Given the description of an element on the screen output the (x, y) to click on. 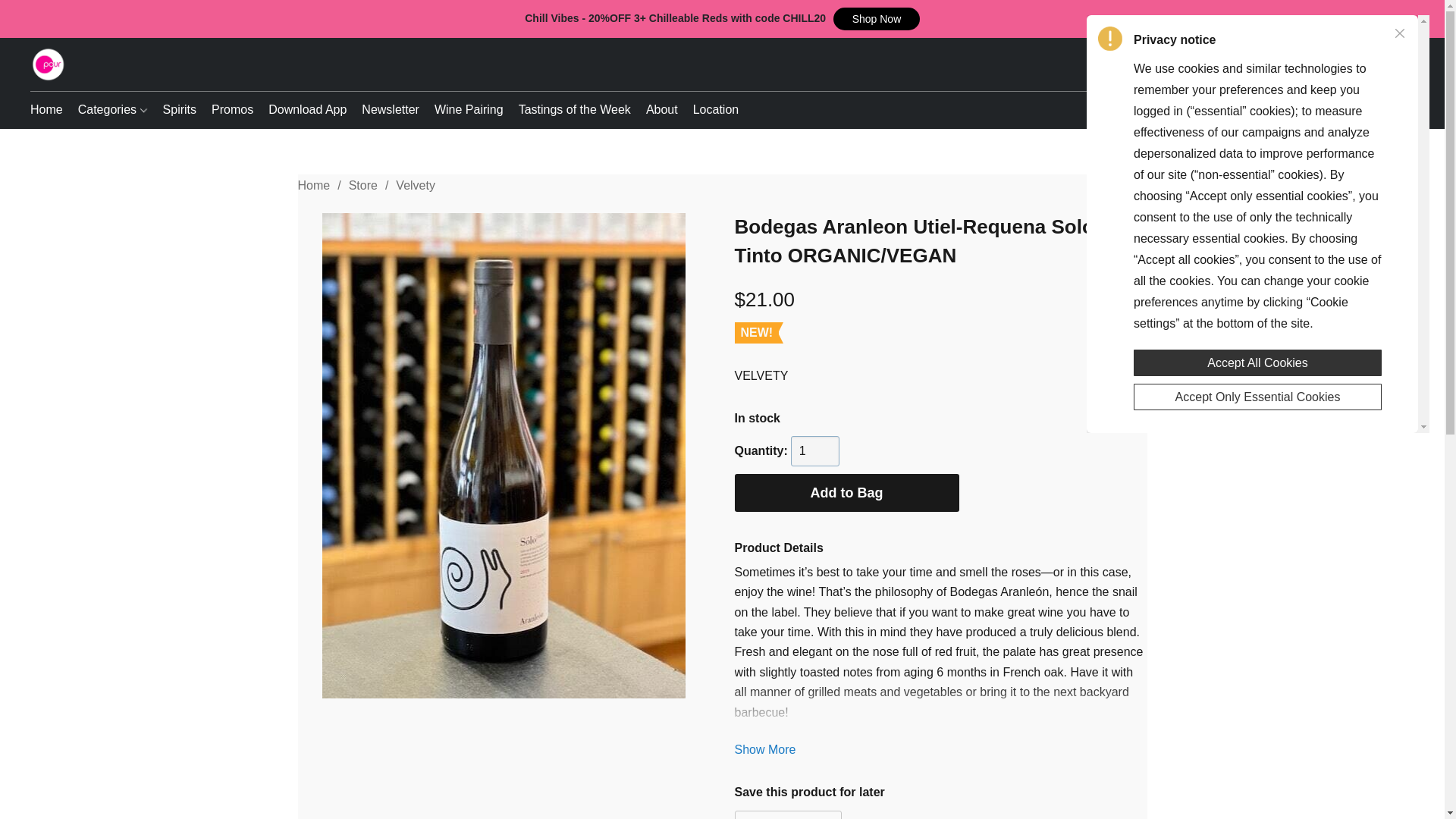
Spirits (179, 109)
Wine Pairing (468, 109)
Velvety (415, 185)
About (662, 109)
Download App (306, 109)
212-501-7687 (1247, 109)
Shop Now (876, 18)
Store (363, 185)
Favorite (787, 814)
Accept Only Essential Cookies (1257, 397)
Newsletter (389, 109)
Go to your shopping cart (1404, 64)
Show More (763, 748)
Home (49, 109)
Accept All Cookies (1257, 361)
